Given the description of an element on the screen output the (x, y) to click on. 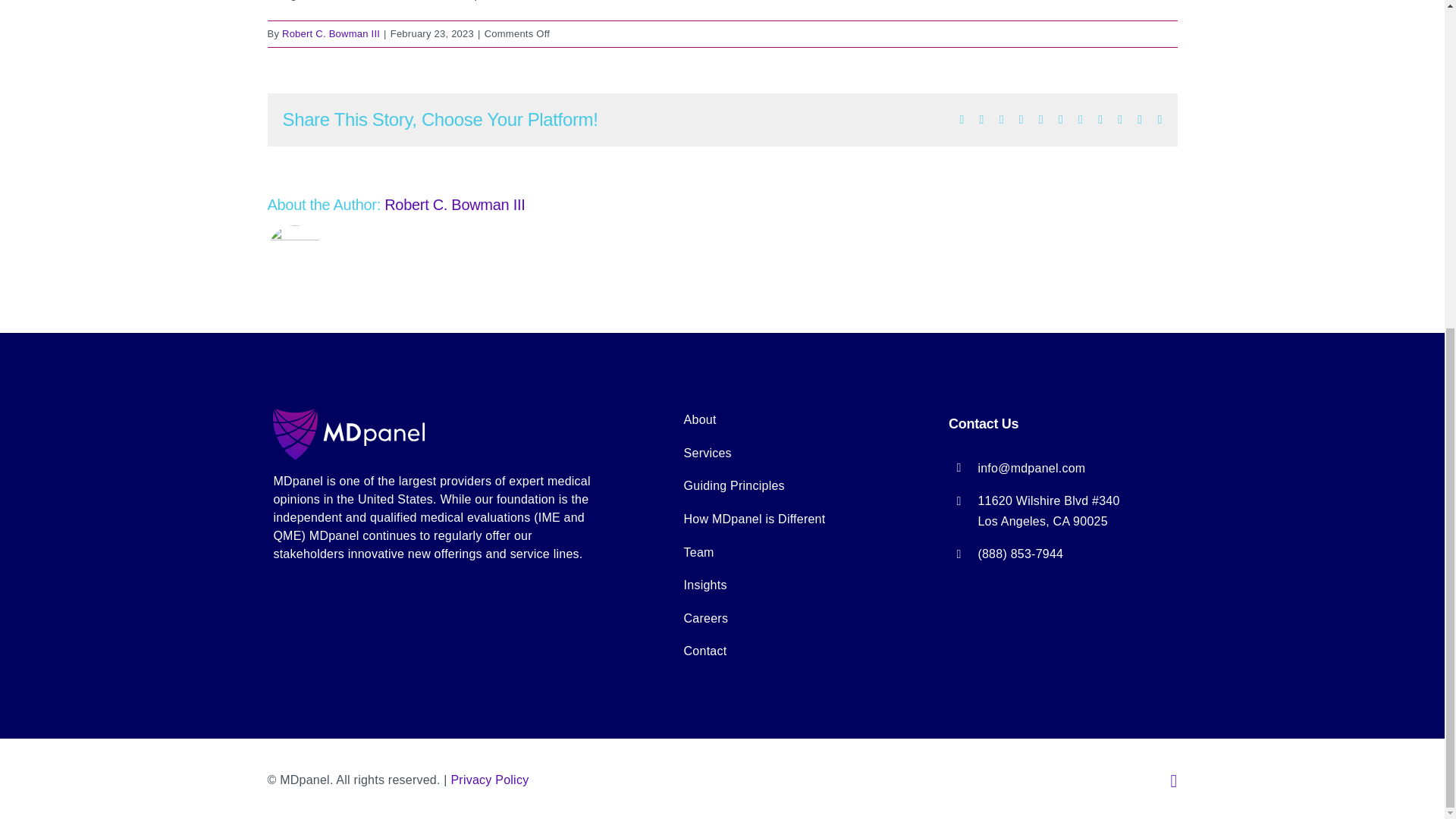
Guiding Principles (798, 486)
Robert C. Bowman III (454, 204)
Team (798, 552)
email MDpanel (1030, 468)
About (798, 419)
Robert C. Bowman III (331, 33)
Posts by Robert C. Bowman III (454, 204)
How MDpanel is Different (798, 518)
Services (798, 453)
Posts by Robert C. Bowman III (331, 33)
